Given the description of an element on the screen output the (x, y) to click on. 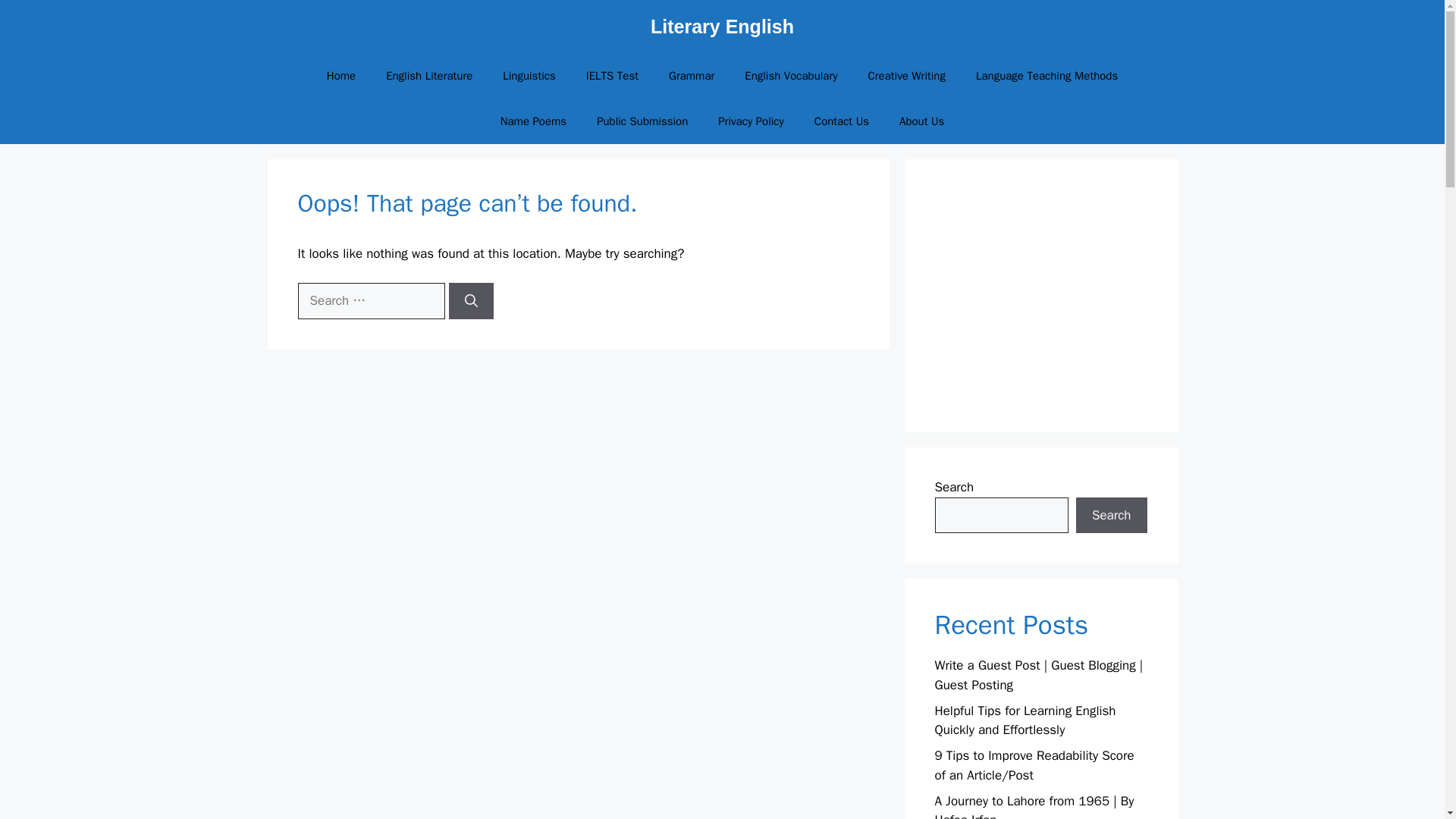
About Us (921, 121)
IELTS Test (611, 75)
Search for: (370, 300)
Public Submission (641, 121)
Advertisement (1063, 295)
Helpful Tips for Learning English Quickly and Effortlessly (1024, 719)
Home (341, 75)
Language Teaching Methods (1046, 75)
English Literature (429, 75)
English Vocabulary (790, 75)
